Given the description of an element on the screen output the (x, y) to click on. 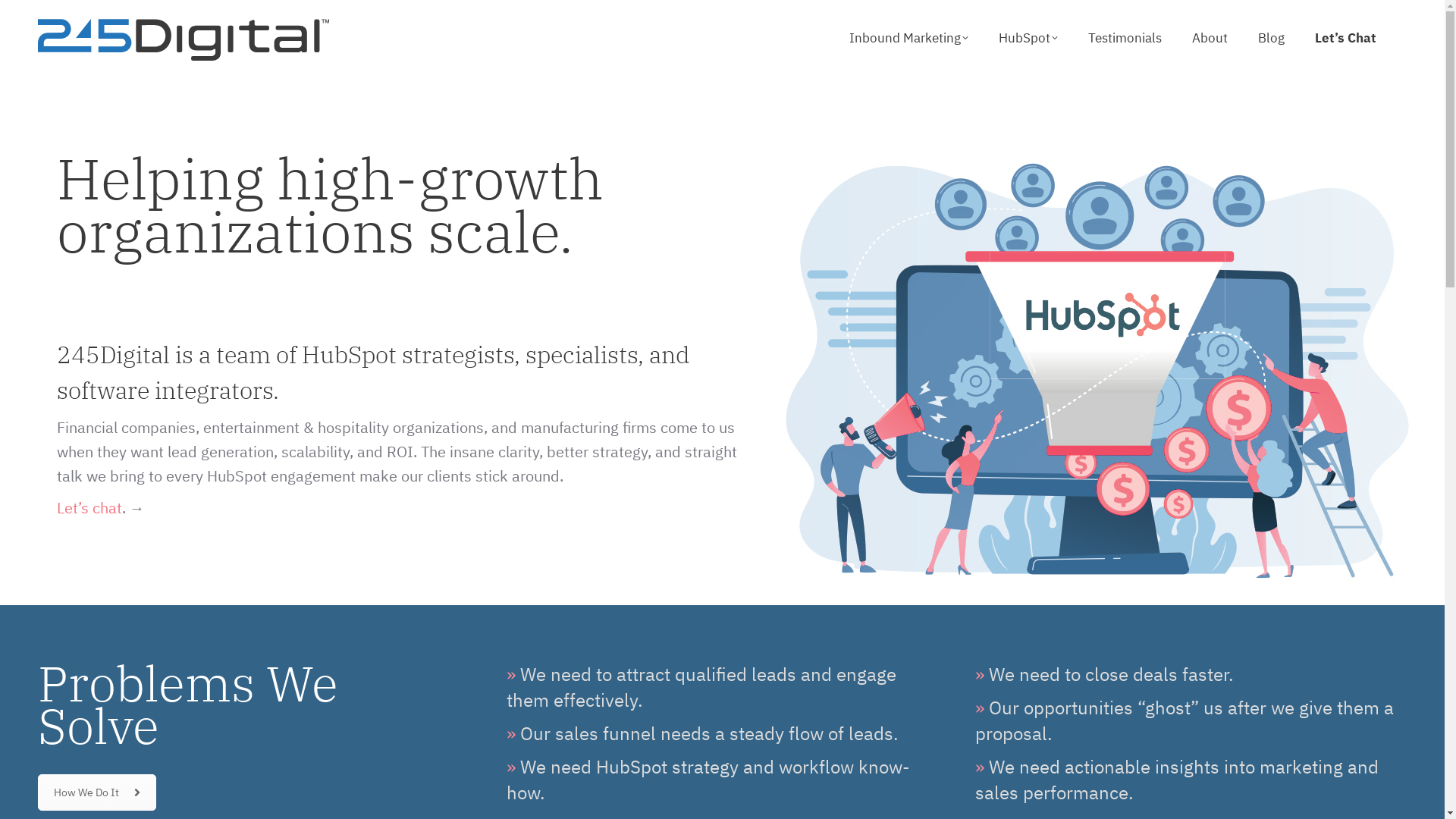
How We Do It Element type: text (96, 792)
About Element type: text (1209, 37)
Blog Element type: text (1271, 37)
Certified HubSpot Partner Element type: hover (1096, 370)
Testimonials Element type: text (1124, 37)
HubSpot Element type: text (1027, 37)
Inbound Marketing Element type: text (908, 37)
